Given the description of an element on the screen output the (x, y) to click on. 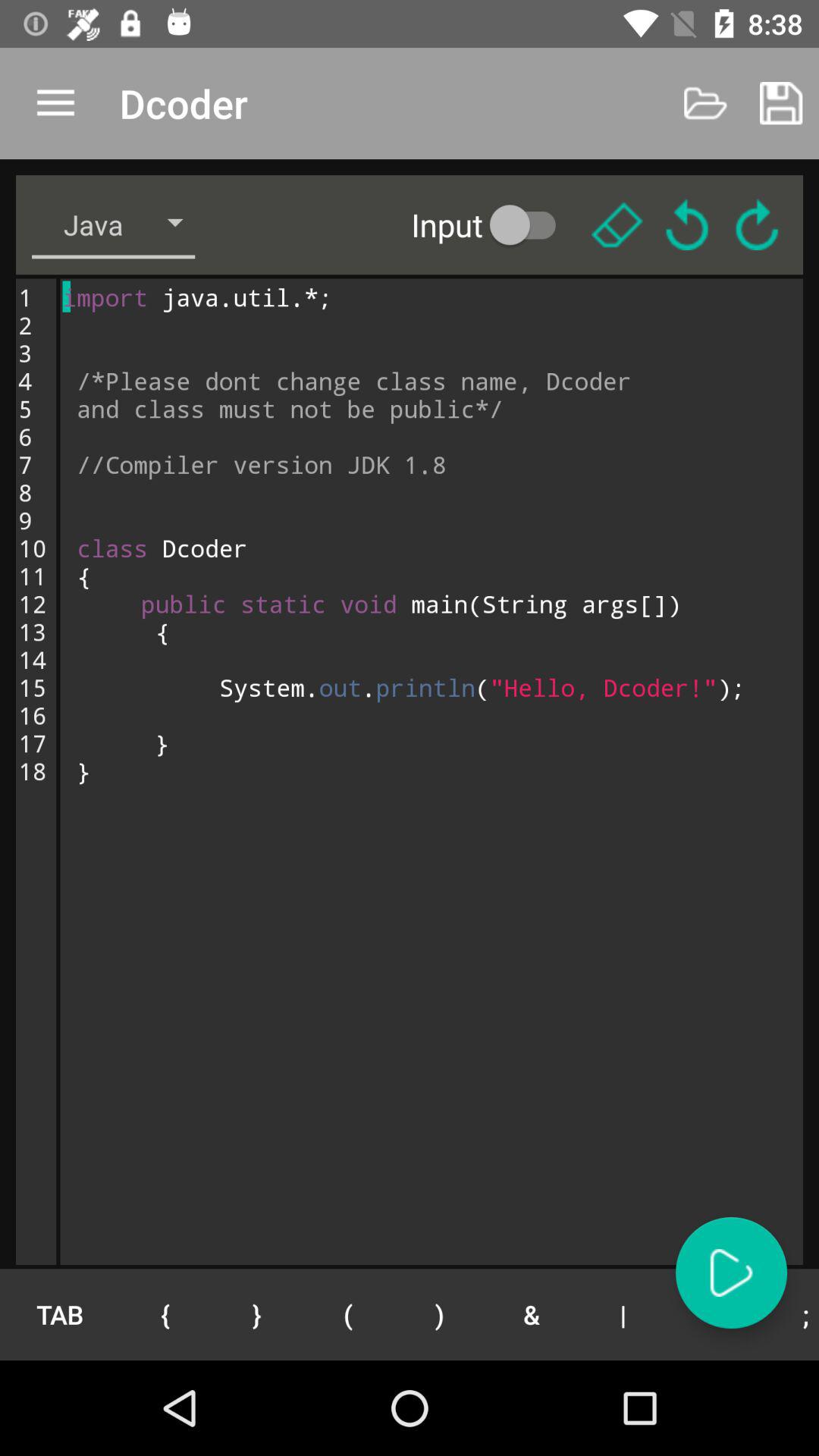
delete button (616, 224)
